Given the description of an element on the screen output the (x, y) to click on. 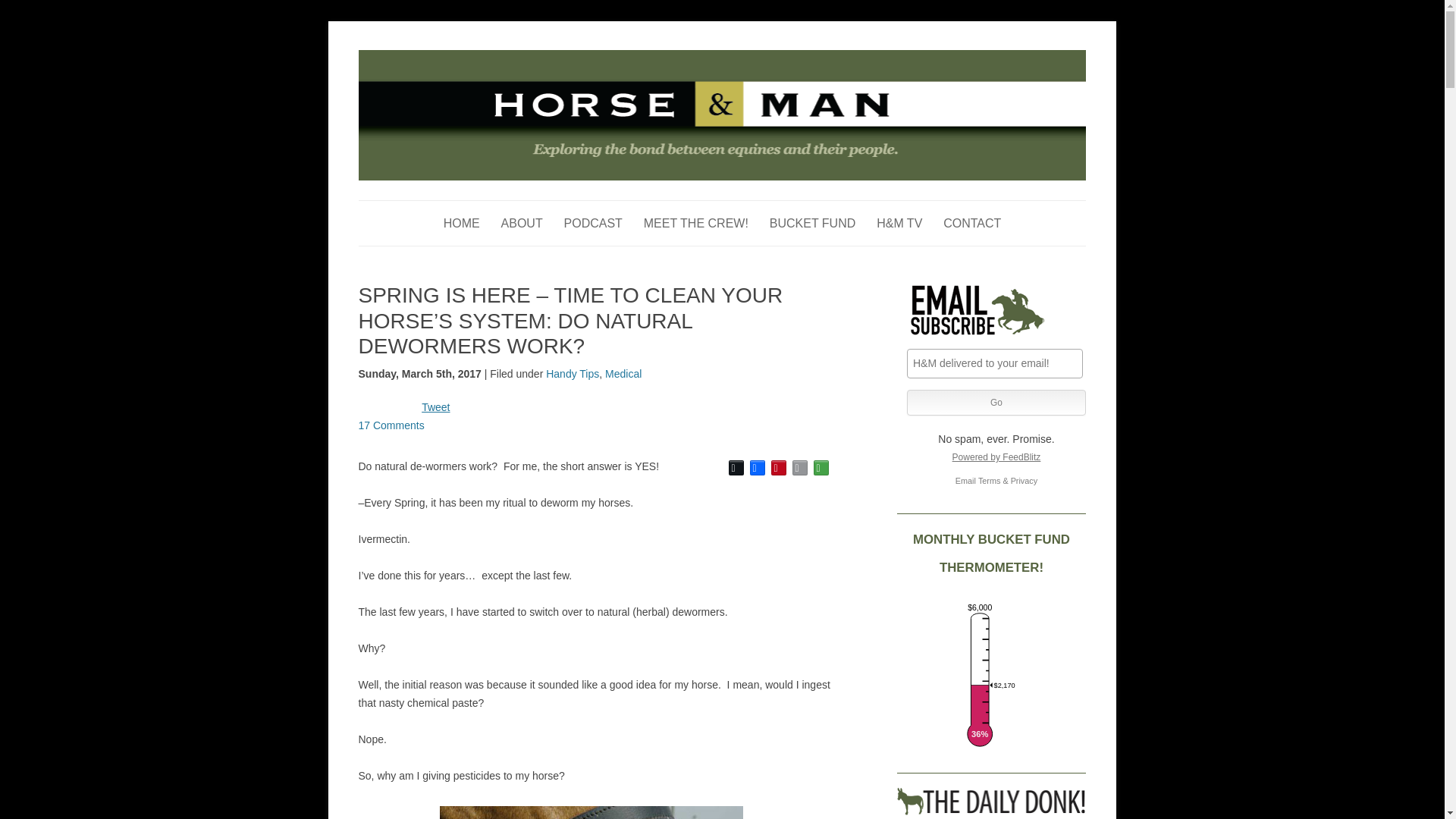
ABOUT (521, 222)
Pinterest (778, 467)
Contact Horse and Man (972, 222)
Horse and Man (428, 57)
The Drop in the Bucket Fund Story (813, 222)
MEET THE CREW! (695, 222)
Skip to content (757, 204)
Email This (799, 467)
Tweet (435, 407)
CONTACT (972, 222)
Medical (623, 373)
Handy Tips (572, 373)
Meet the Horse and Man Crew (695, 222)
About Horse and Man (521, 222)
Go (996, 402)
